Given the description of an element on the screen output the (x, y) to click on. 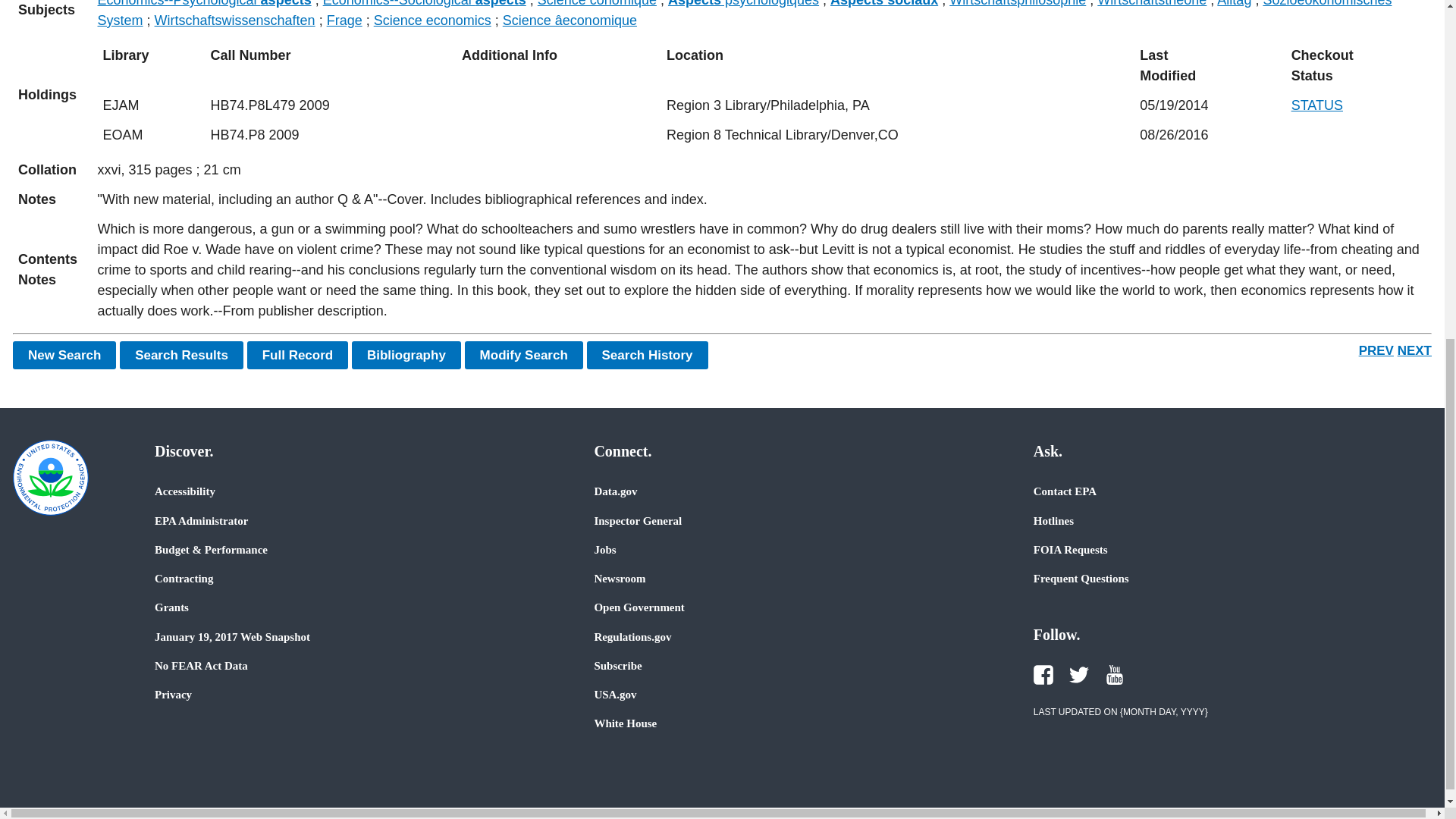
NEXT (1414, 350)
Bibliography (406, 355)
Search History (646, 355)
Frage (344, 20)
Contracting (183, 578)
No FEAR Act Data (200, 665)
New Search (64, 355)
Accessibility (184, 490)
Wirtschaftswissenschaften (234, 20)
